Given the description of an element on the screen output the (x, y) to click on. 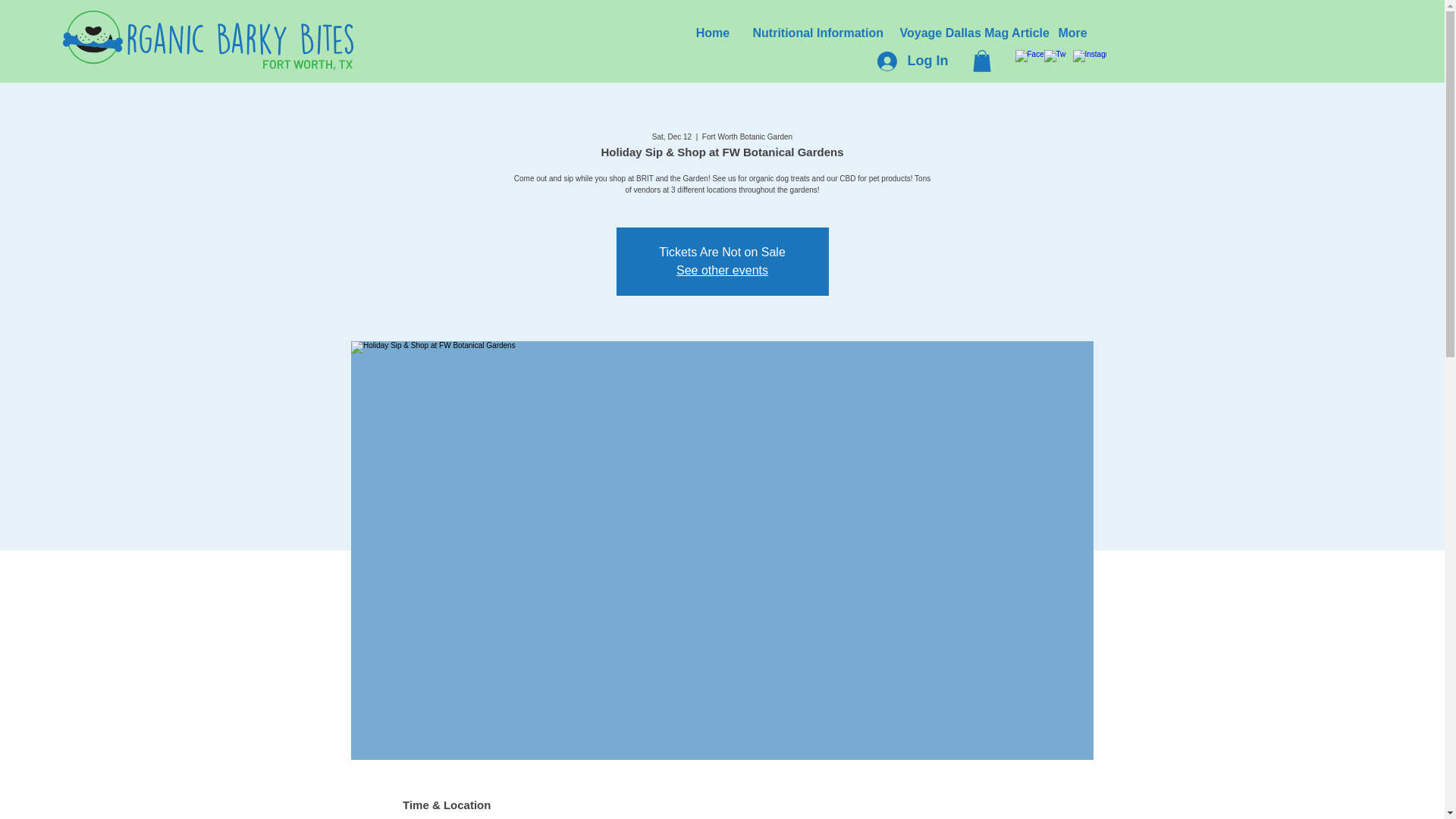
Log In (911, 61)
Nutritional Information (814, 33)
See other events (722, 269)
Home (712, 33)
Voyage Dallas Mag Article (967, 33)
